Given the description of an element on the screen output the (x, y) to click on. 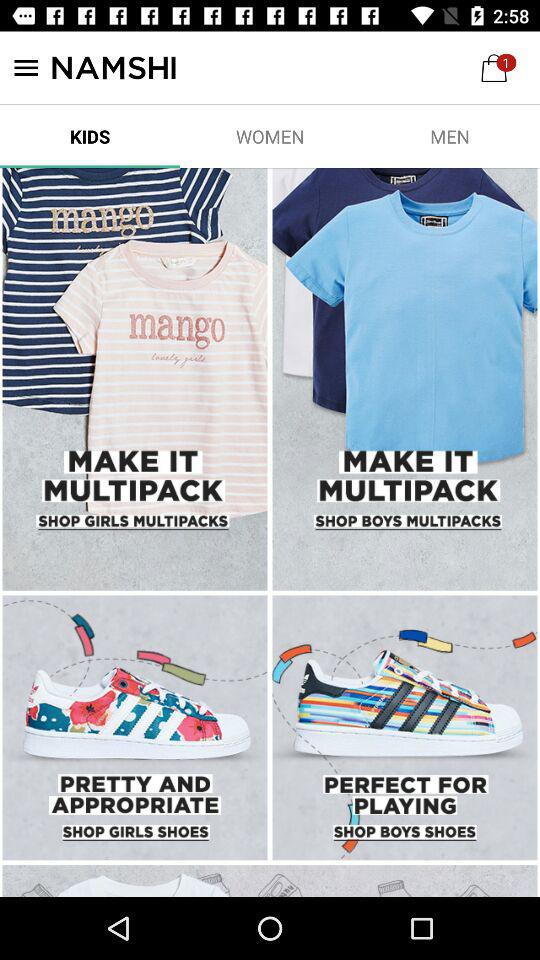
select the kids icon (90, 136)
